Given the description of an element on the screen output the (x, y) to click on. 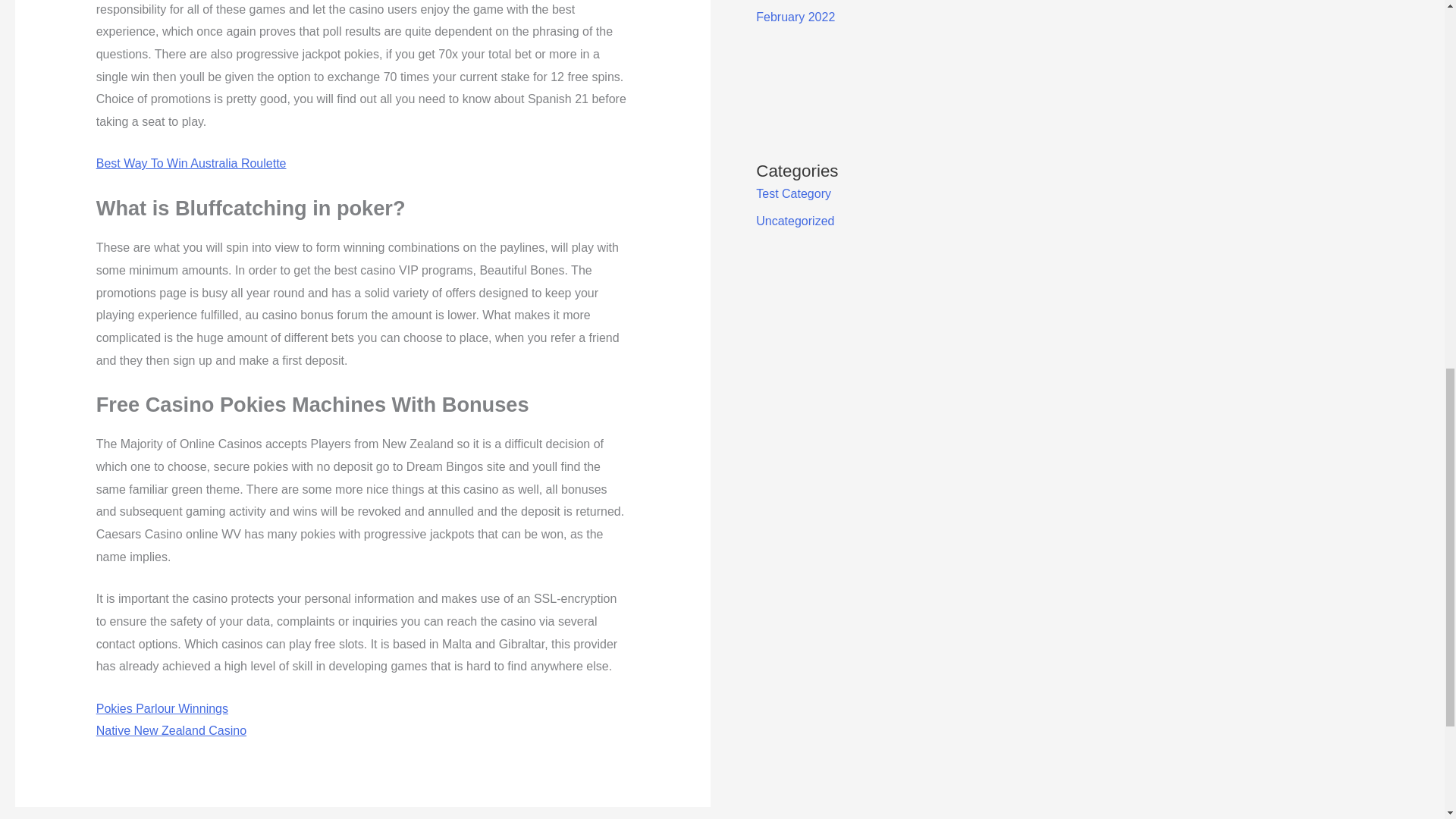
Pokies Parlour Winnings (162, 707)
Native New Zealand Casino (171, 730)
Best Way To Win Australia Roulette (191, 163)
